Given the description of an element on the screen output the (x, y) to click on. 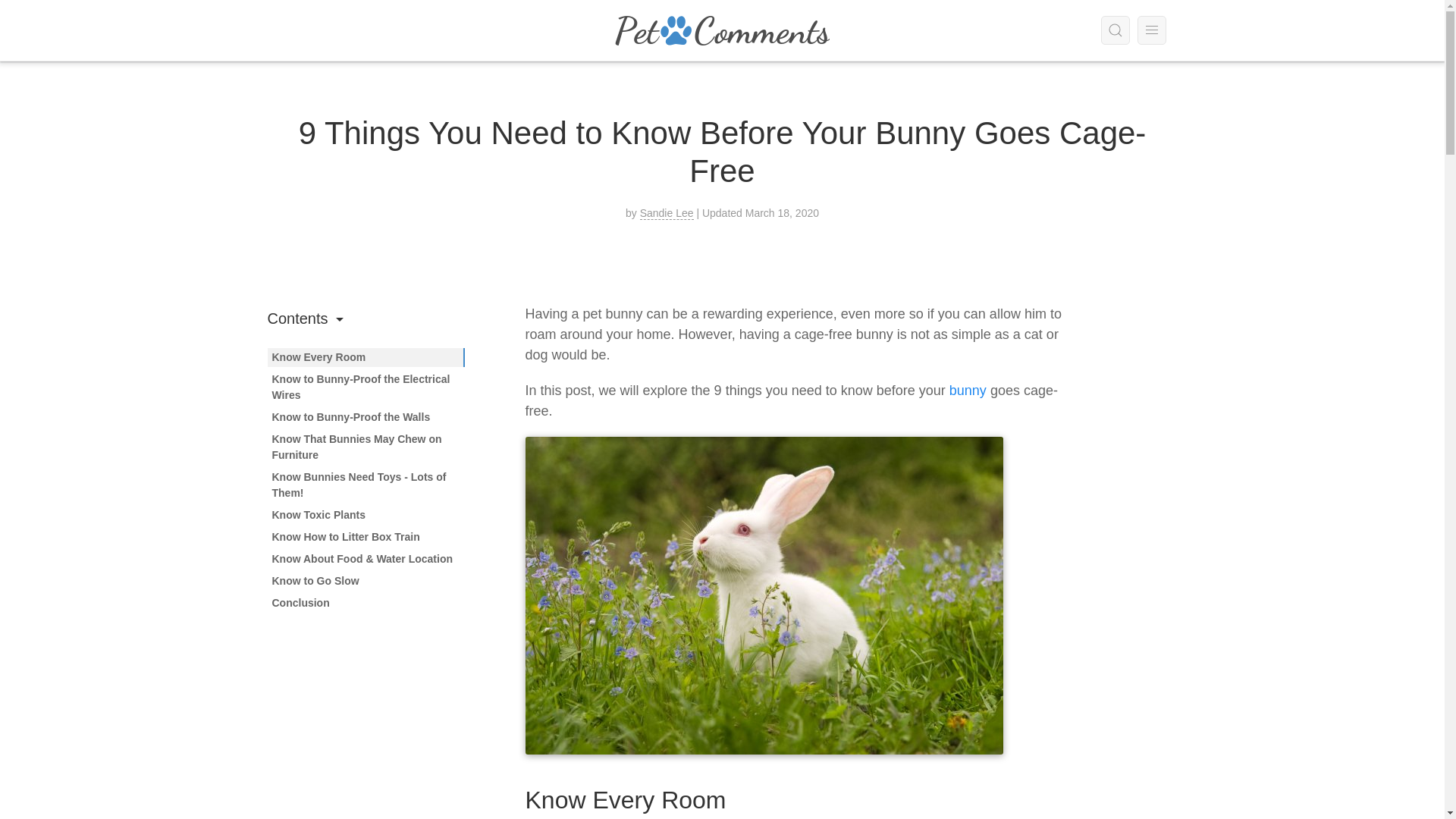
Know Every Room (317, 357)
Know to Bunny-Proof the Walls (349, 417)
Know Bunnies Need Toys - Lots of Them! (357, 484)
Know Toxic Plants (317, 514)
Know How to Litter Box Train (344, 536)
Know to Bunny-Proof the Electrical Wires (359, 387)
Know That Bunnies May Chew on Furniture (355, 447)
Know to Go Slow (314, 580)
bunny (965, 390)
Conclusion (299, 603)
PetComments (722, 30)
